Given the description of an element on the screen output the (x, y) to click on. 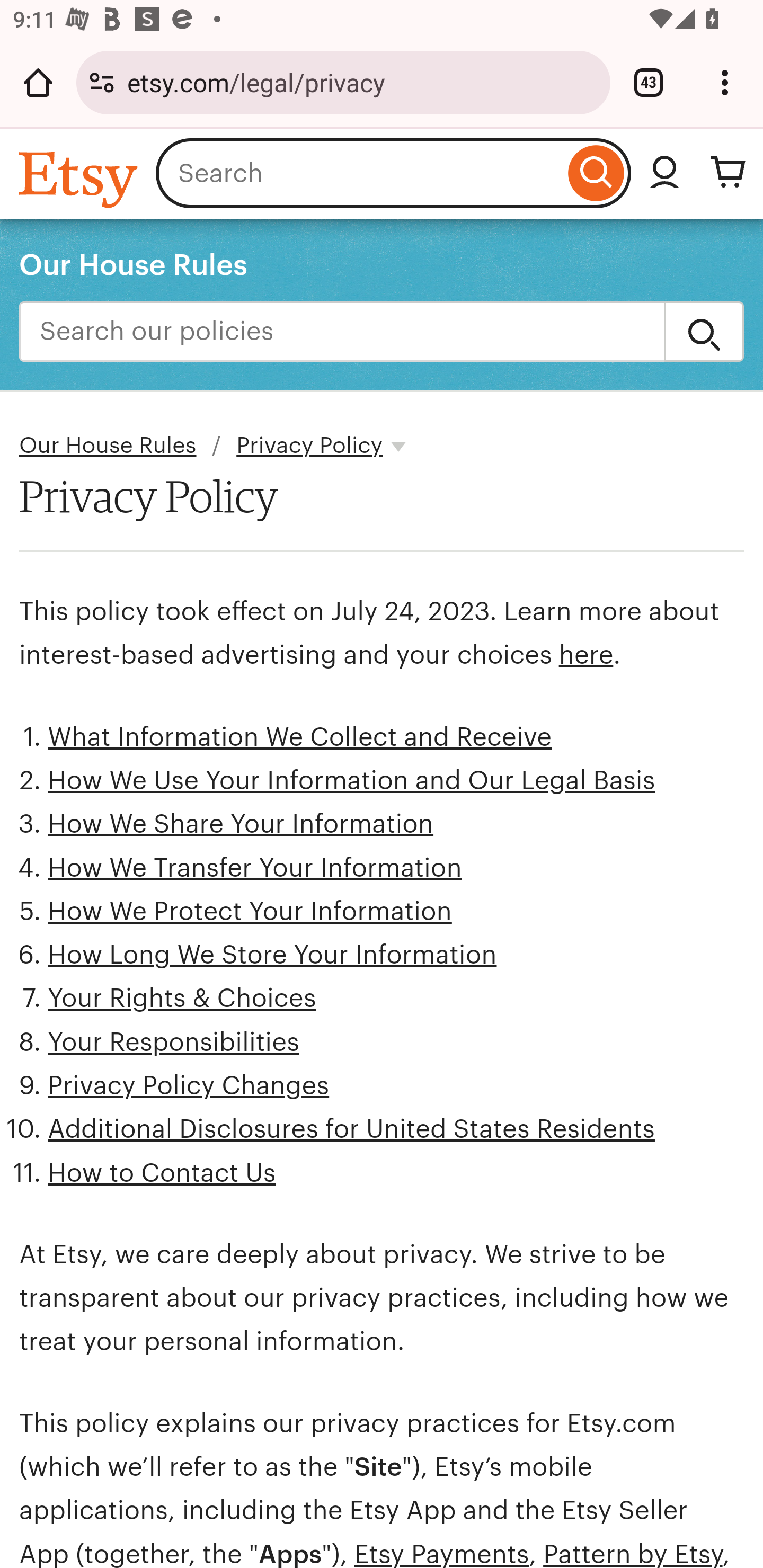
Open the home page (38, 82)
Connection is secure (101, 82)
Switch or close tabs (648, 82)
Customize and control Google Chrome (724, 82)
etsy.com/legal/privacy (362, 82)
Search (595, 172)
Cart (727, 172)
Sign in (664, 172)
Etsy (80, 178)
Our House Rules (133, 263)
Search (703, 331)
Our House Rules (107, 445)
here (585, 655)
What Information We Collect and Receive (300, 736)
How We Use Your Information and Our Legal Basis (351, 781)
How We Share Your Information (240, 823)
How We Transfer Your Information (254, 867)
How We Protect Your Information (250, 911)
How Long We Store Your Information (272, 954)
Your Rights & Choices (181, 998)
Your Responsibilities (173, 1041)
Privacy Policy Changes (188, 1085)
Additional Disclosures for United States Residents (350, 1128)
How to Contact Us (161, 1172)
Etsy Payments (440, 1553)
Pattern by Etsy (632, 1553)
